Given the description of an element on the screen output the (x, y) to click on. 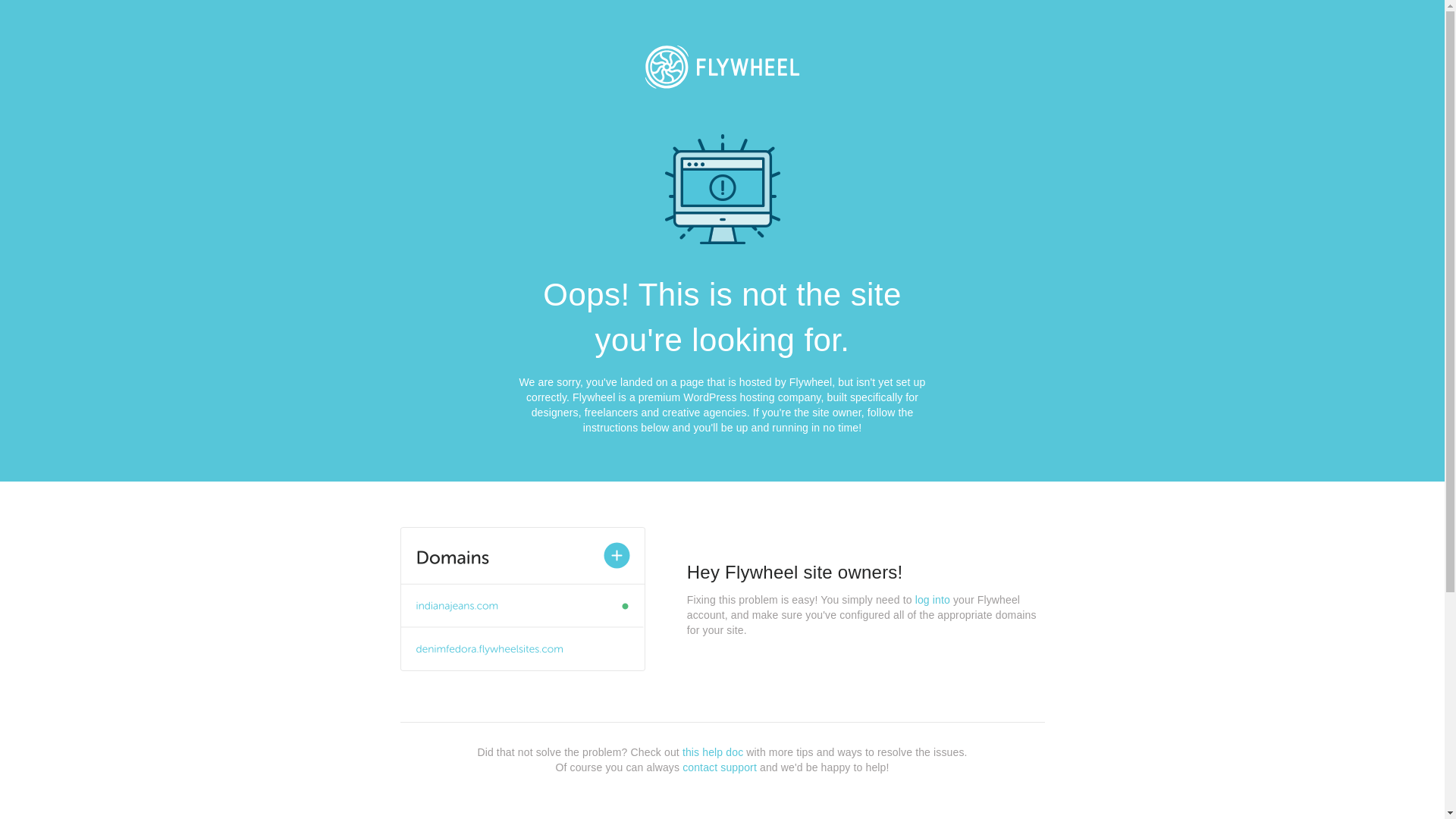
contact support (719, 767)
log into (932, 599)
this help doc (712, 752)
